Given the description of an element on the screen output the (x, y) to click on. 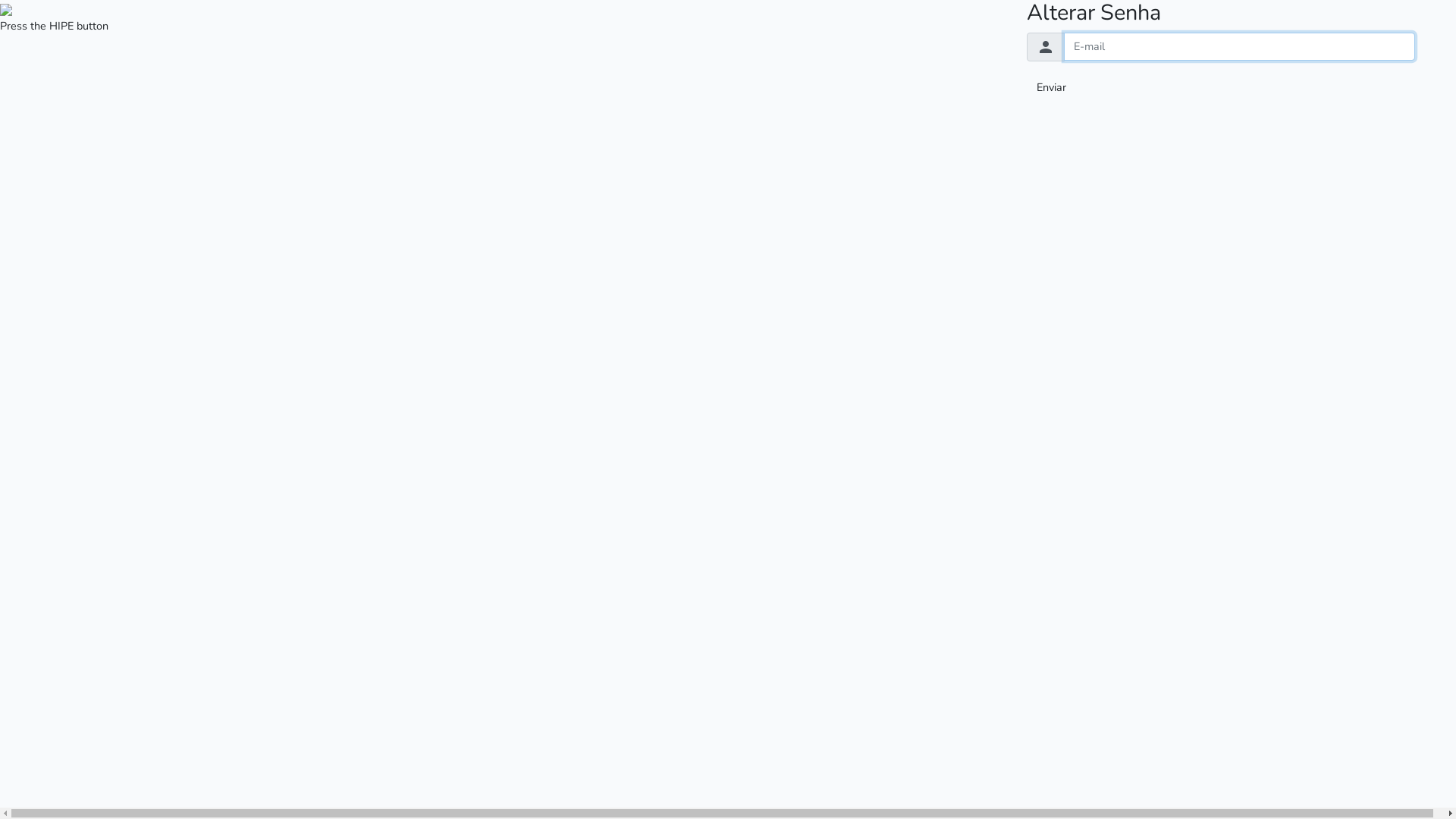
Enviar Element type: text (1051, 87)
